Given the description of an element on the screen output the (x, y) to click on. 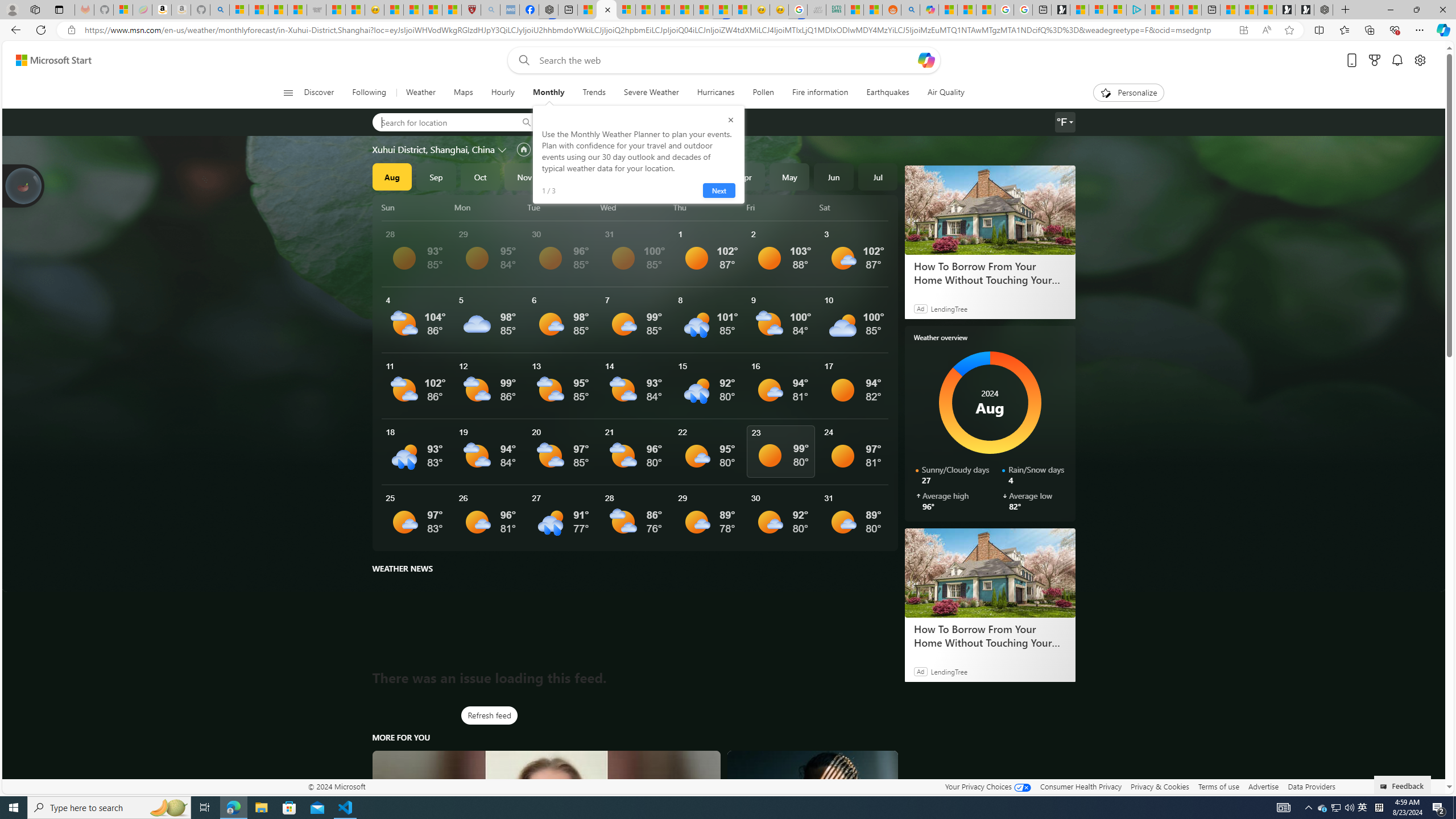
Science - MSN (431, 9)
Aberdeen (581, 121)
Hurricanes (715, 92)
Nov (523, 176)
LendingTree (948, 671)
2025 Jan (612, 176)
